Given the description of an element on the screen output the (x, y) to click on. 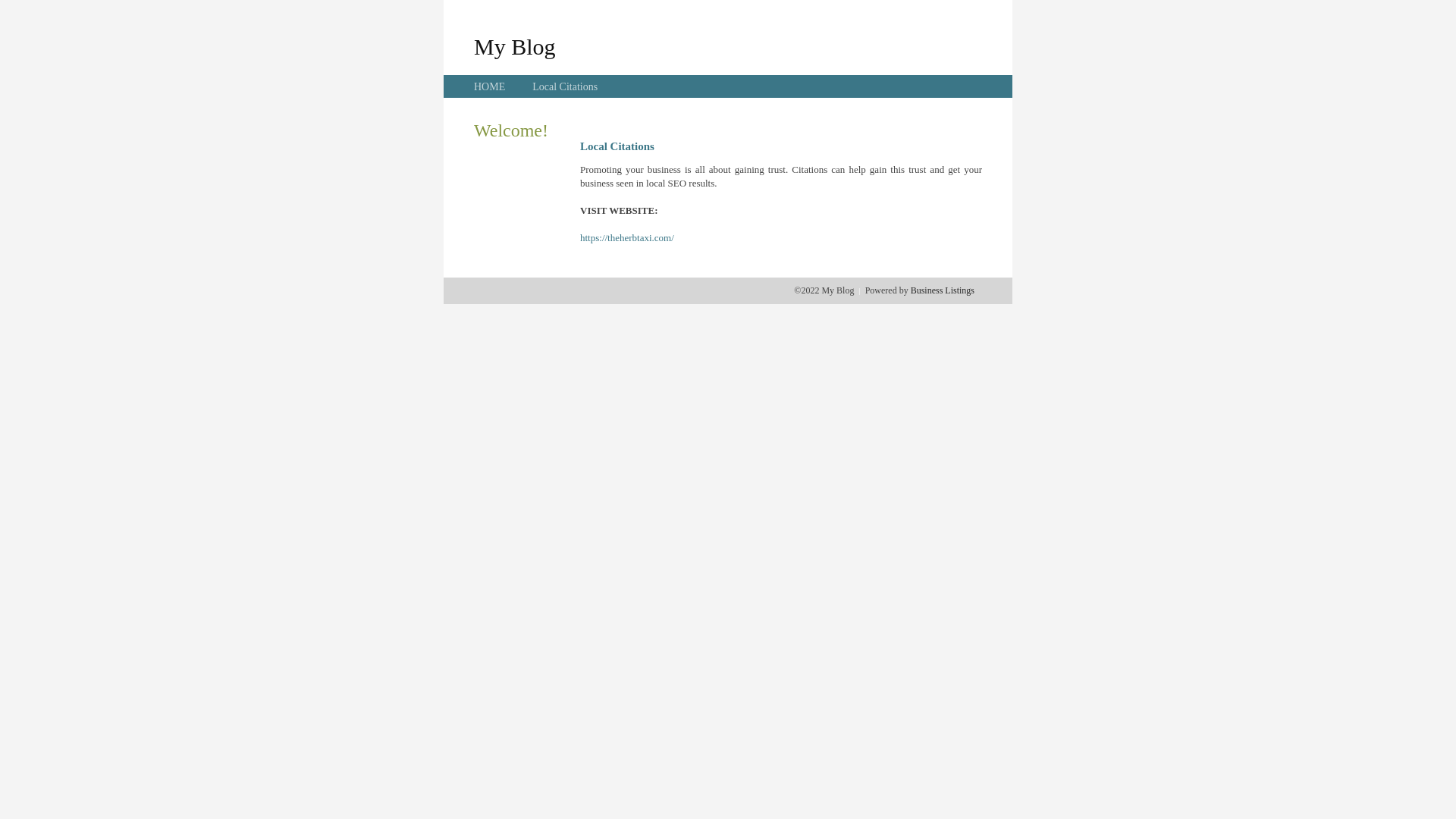
HOME Element type: text (489, 86)
Business Listings Element type: text (942, 290)
Local Citations Element type: text (564, 86)
https://theherbtaxi.com/ Element type: text (627, 237)
My Blog Element type: text (514, 46)
